Given the description of an element on the screen output the (x, y) to click on. 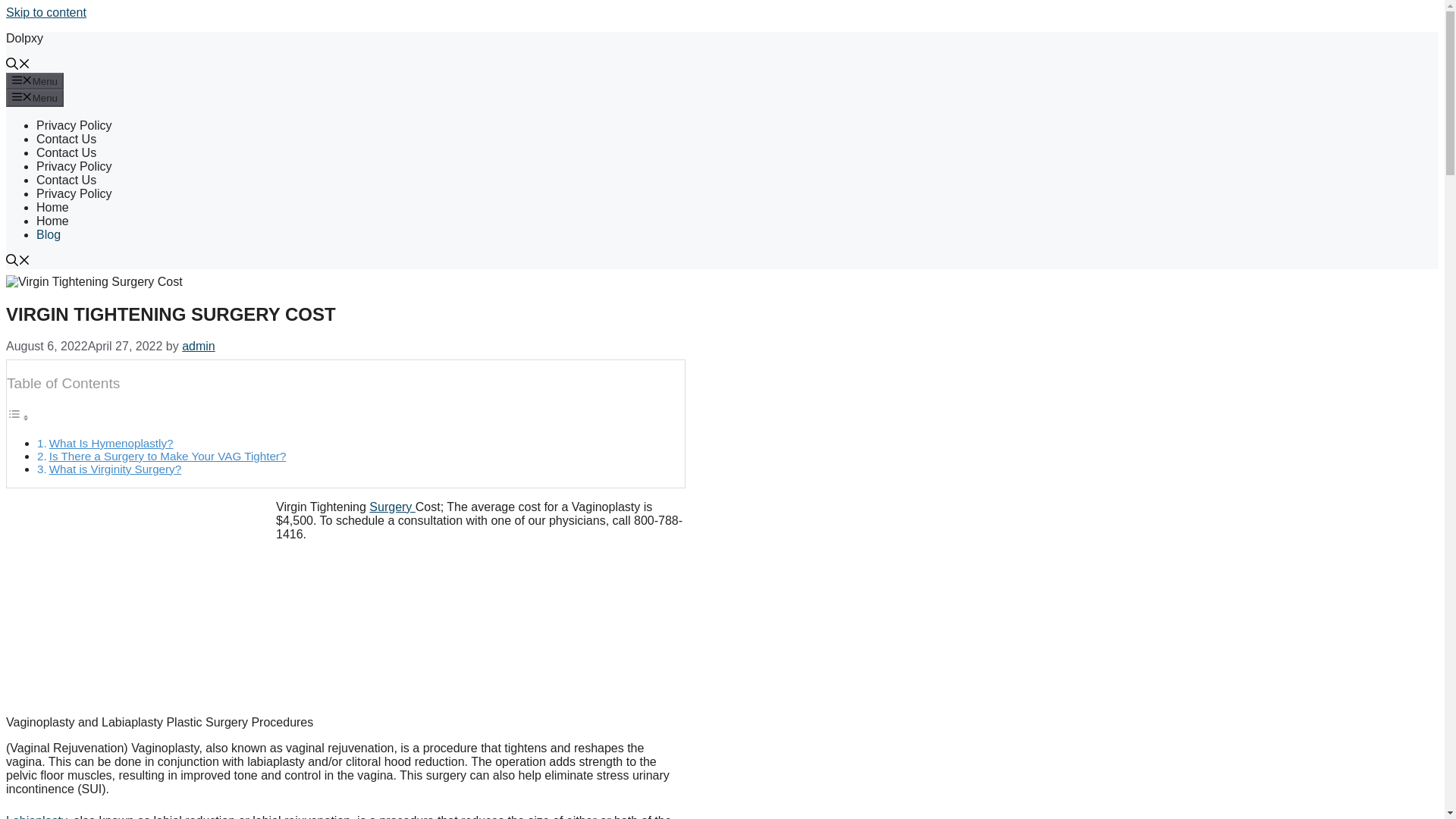
What Is Hymenoplastly? (111, 442)
What is Virginity Surgery? (114, 468)
Blog (48, 234)
Privacy Policy (74, 124)
Contact Us (66, 138)
Contact Us (66, 179)
Menu (34, 80)
Is There a Surgery to Make Your VAG Tighter? (167, 455)
admin (198, 345)
What is Virginity Surgery? (114, 468)
What Is Hymenoplastly? (111, 442)
Skip to content (45, 11)
Skip to content (45, 11)
Menu (34, 97)
Is There a Surgery to Make Your VAG Tighter? (167, 455)
